Given the description of an element on the screen output the (x, y) to click on. 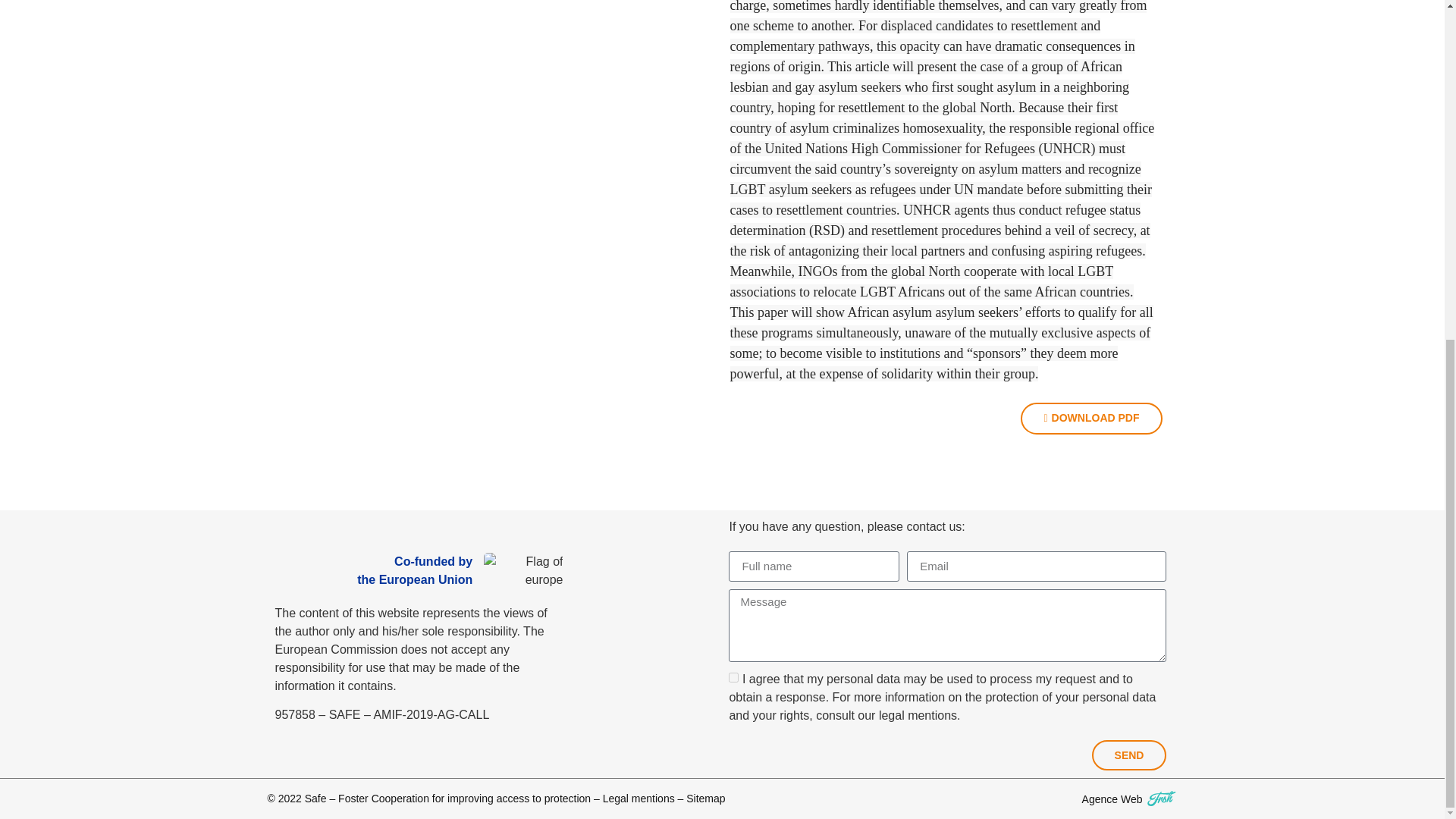
SEND (1129, 755)
Agence Web (1111, 799)
on (733, 677)
Legal mentions (638, 798)
Sitemap (705, 798)
DOWNLOAD PDF (1090, 418)
